Given the description of an element on the screen output the (x, y) to click on. 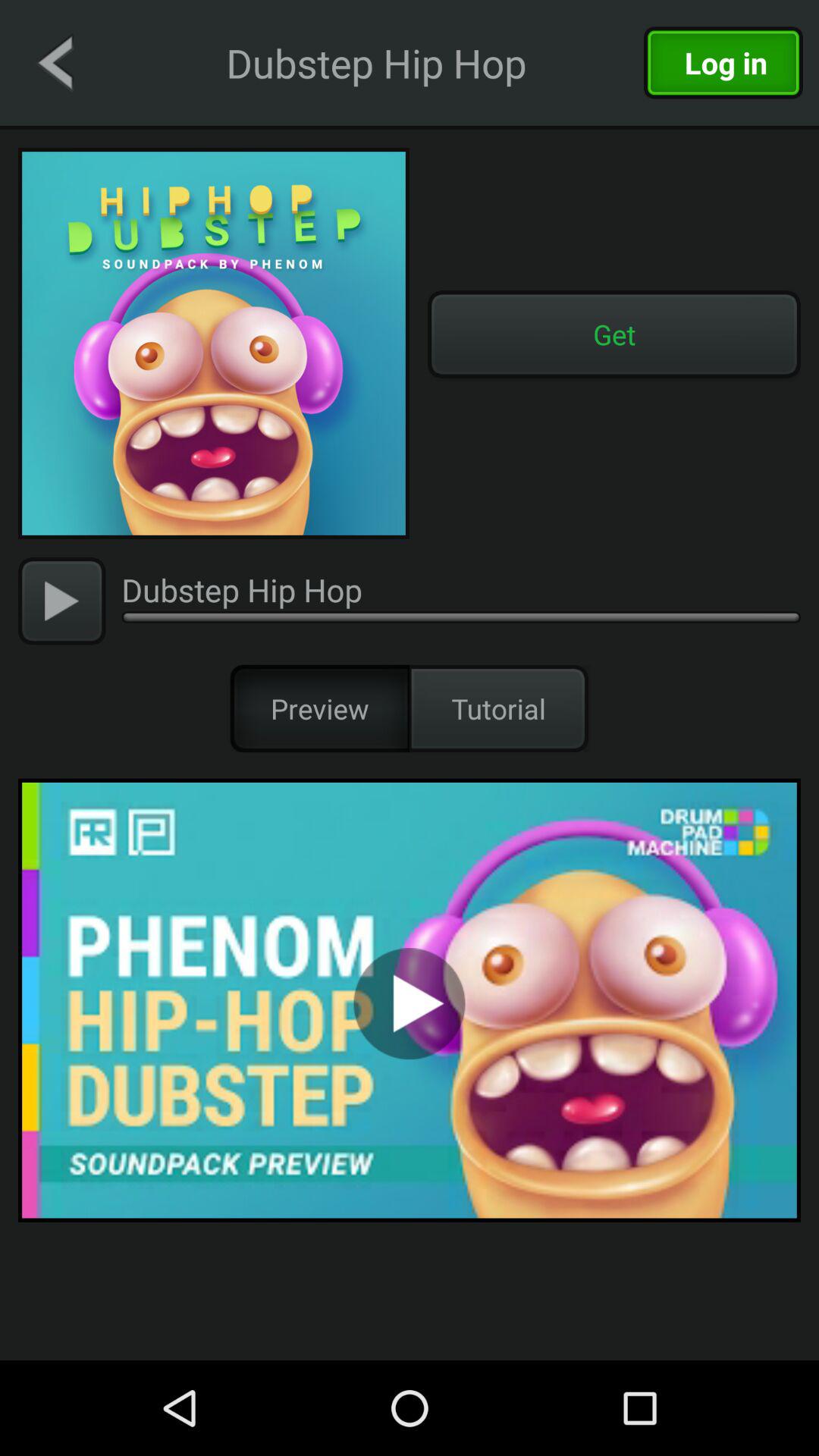
turn off the get icon (613, 334)
